Given the description of an element on the screen output the (x, y) to click on. 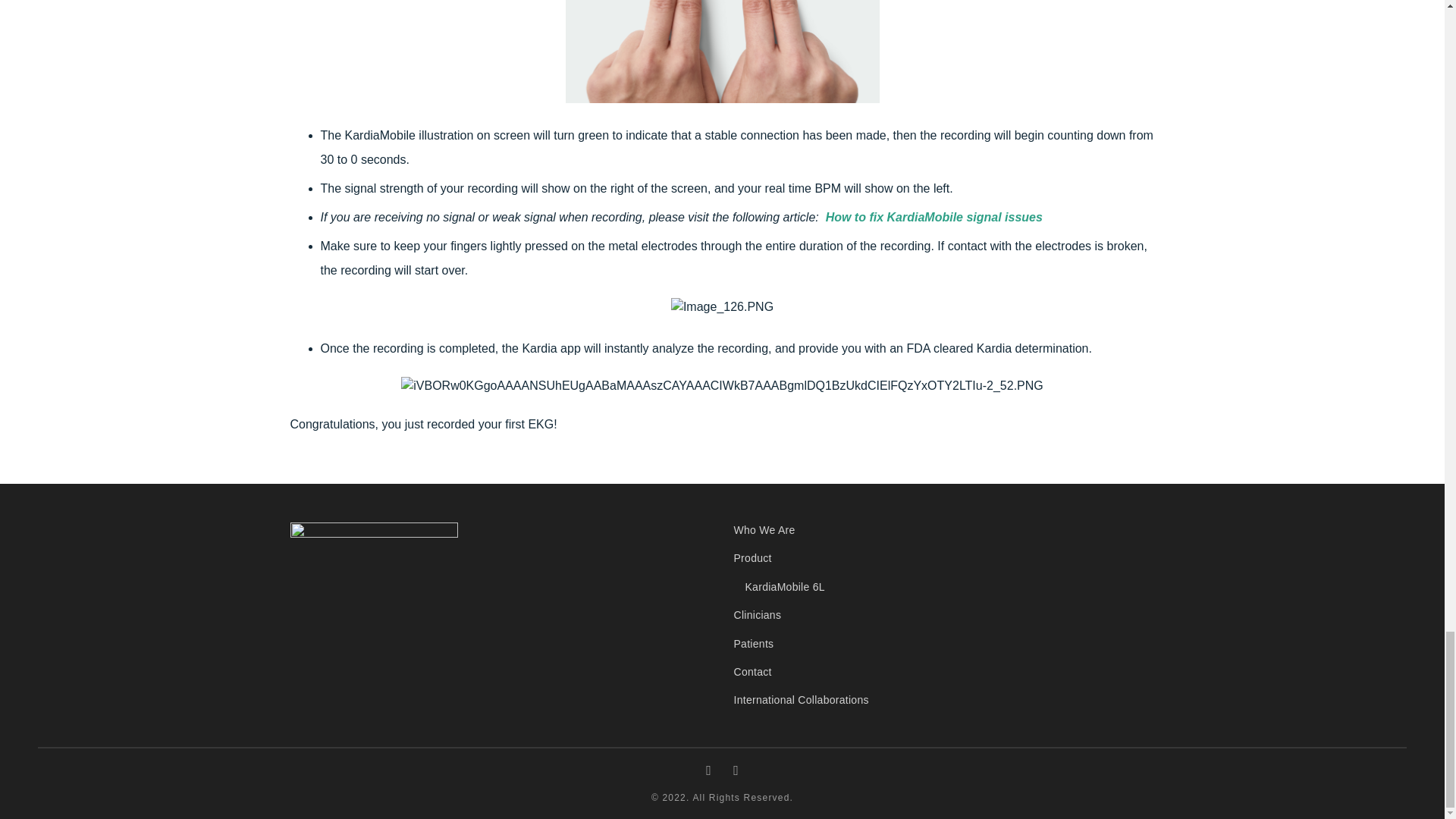
Contact (752, 671)
International Collaborations (801, 699)
Product (752, 558)
Clinicians (757, 614)
KardiaMobile 6L (779, 586)
How to fix KardiaMobile signal issues (933, 216)
Patients (753, 643)
Who We Are (763, 530)
